Given the description of an element on the screen output the (x, y) to click on. 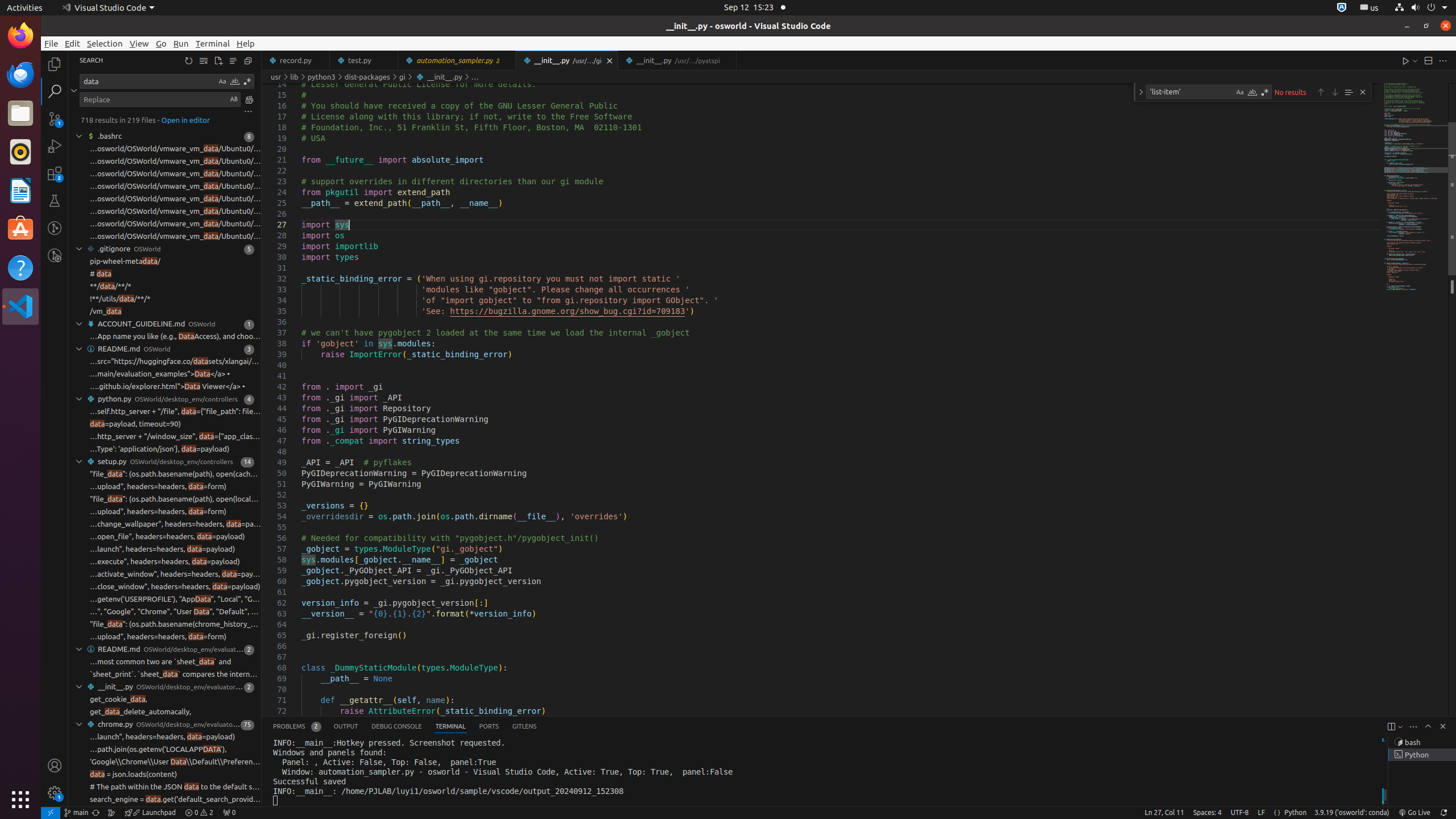
…osworld/OSWorld/vmware_vm_data/Ubuntu0/Ubuntu0.vmx Element type: link (175, 223)
